Given the description of an element on the screen output the (x, y) to click on. 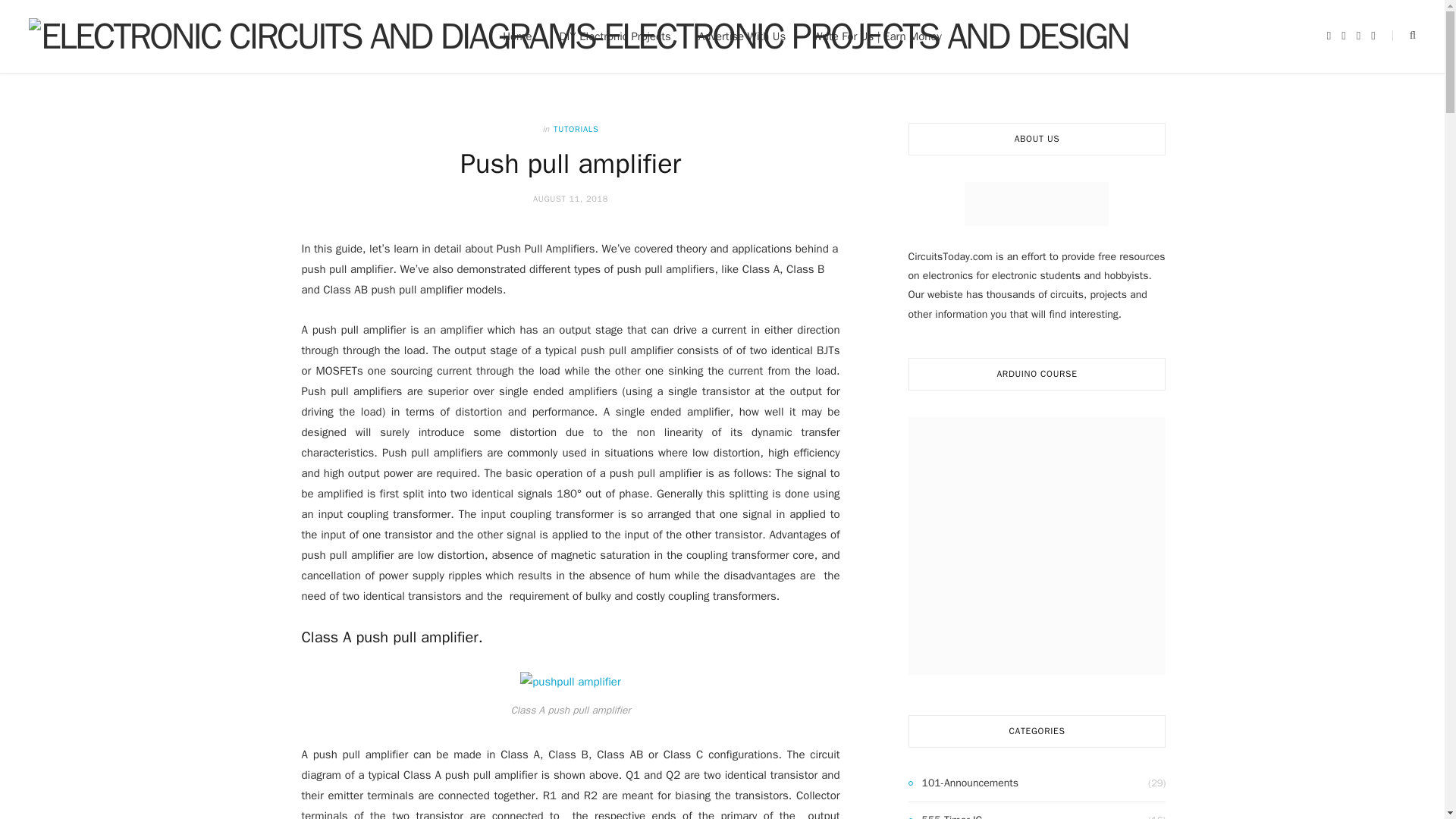
pull pull amplifier (570, 681)
TUTORIALS (575, 128)
AUGUST 11, 2018 (570, 198)
Advertise With Us (741, 36)
DIY Electronic Projects (615, 36)
